Given the description of an element on the screen output the (x, y) to click on. 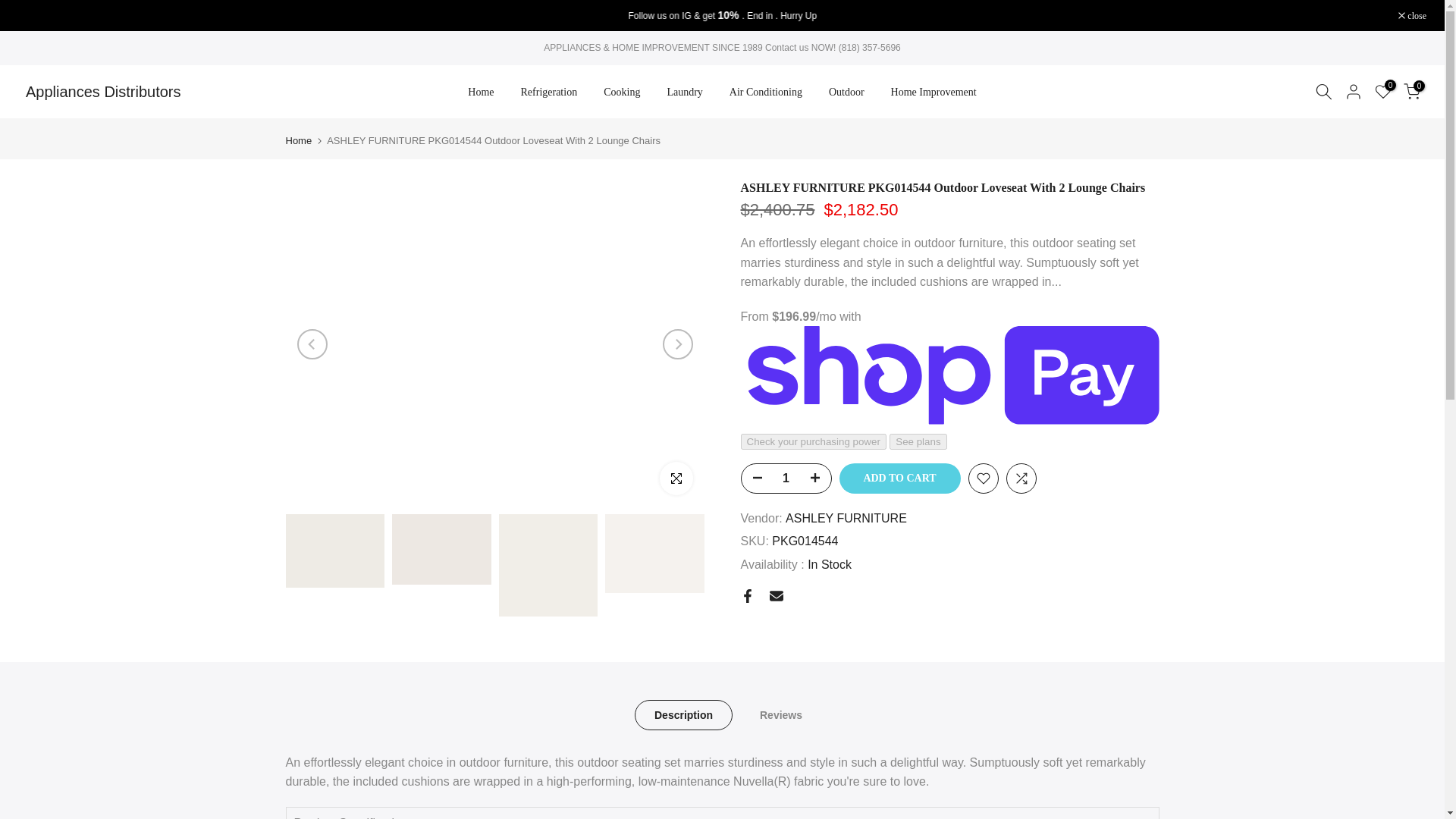
Skip to content (10, 7)
ASHLEY FURNITURE (846, 517)
Reviews (780, 715)
Cooking (622, 92)
Home (480, 92)
Home (298, 140)
Laundry (684, 92)
Share on Email (775, 595)
Appliances Distributors (103, 91)
Air Conditioning (765, 92)
